Given the description of an element on the screen output the (x, y) to click on. 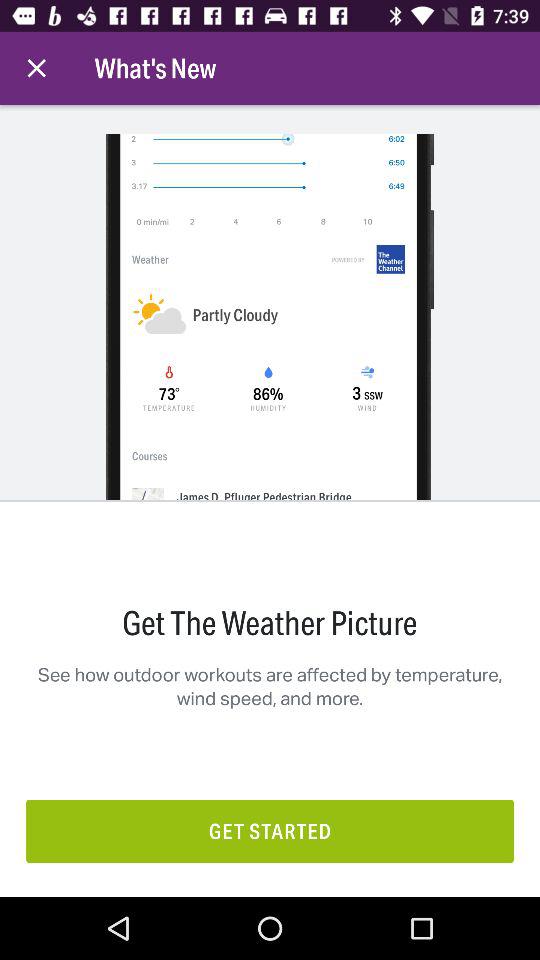
select the get started icon (269, 830)
